Given the description of an element on the screen output the (x, y) to click on. 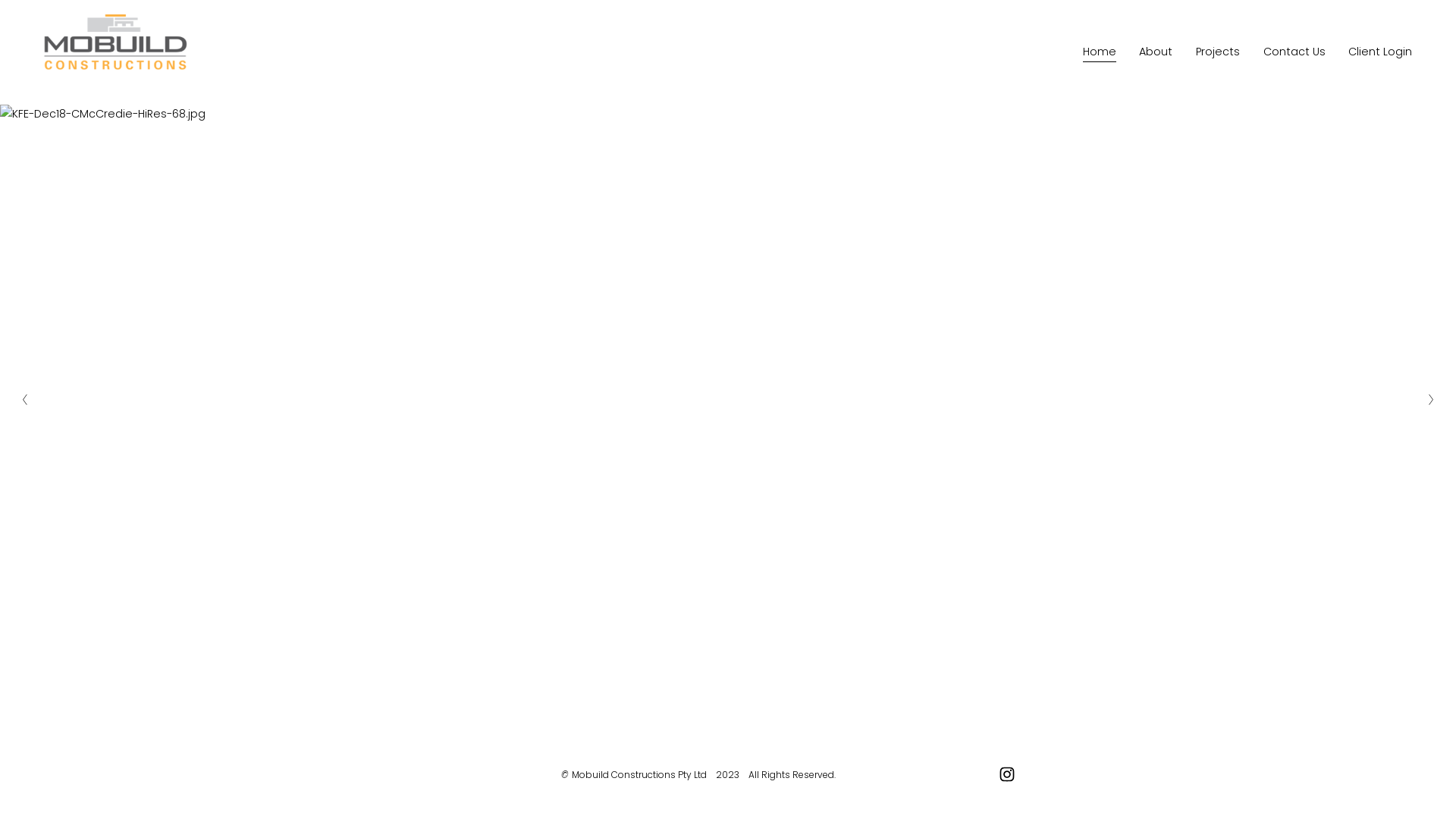
Client Login Element type: text (1380, 52)
Contact Us Element type: text (1294, 52)
Home Element type: text (1099, 52)
Projects Element type: text (1217, 52)
About Element type: text (1155, 52)
